Given the description of an element on the screen output the (x, y) to click on. 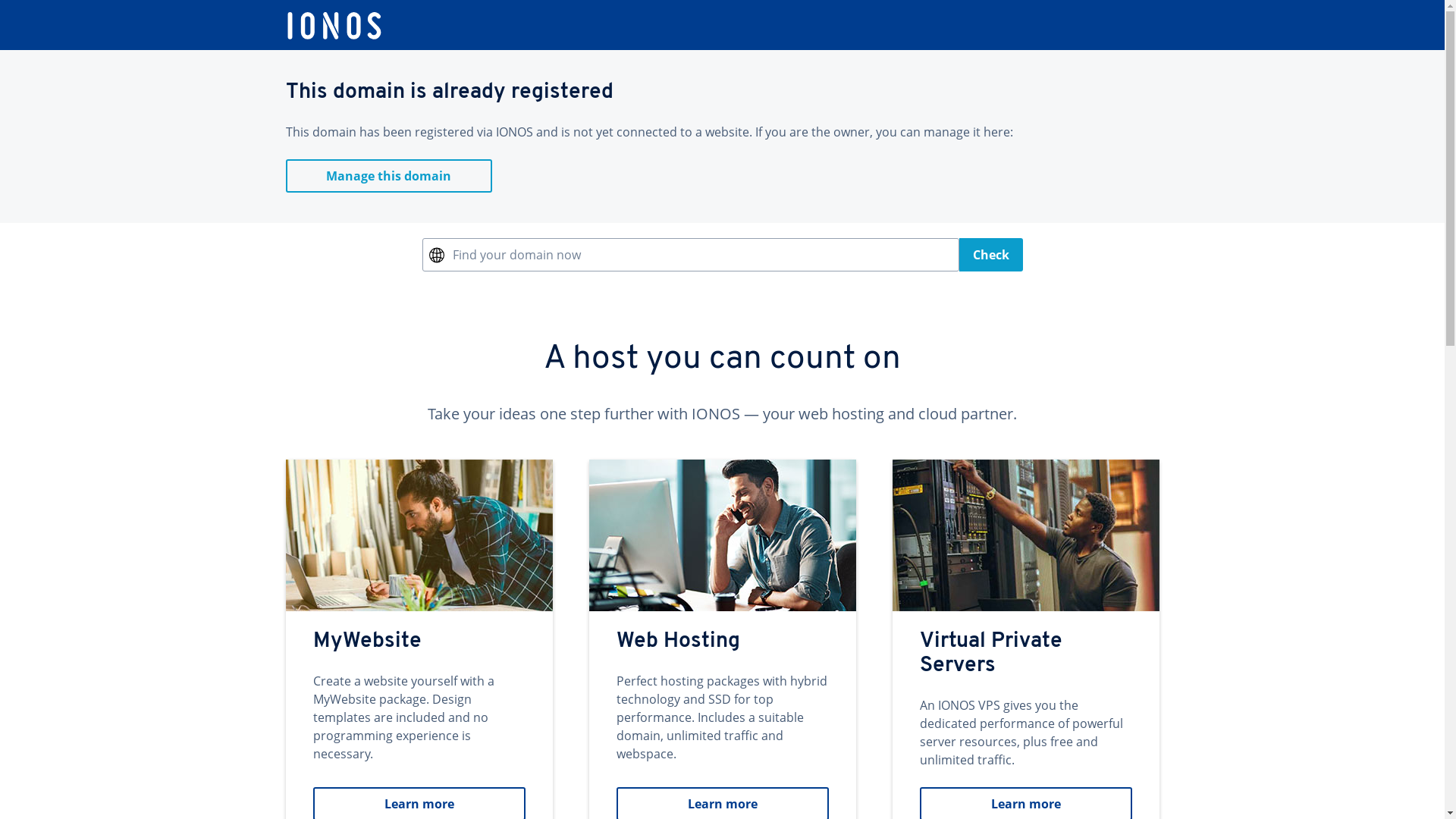
Manage this domain Element type: text (388, 175)
Check Element type: text (990, 254)
